Given the description of an element on the screen output the (x, y) to click on. 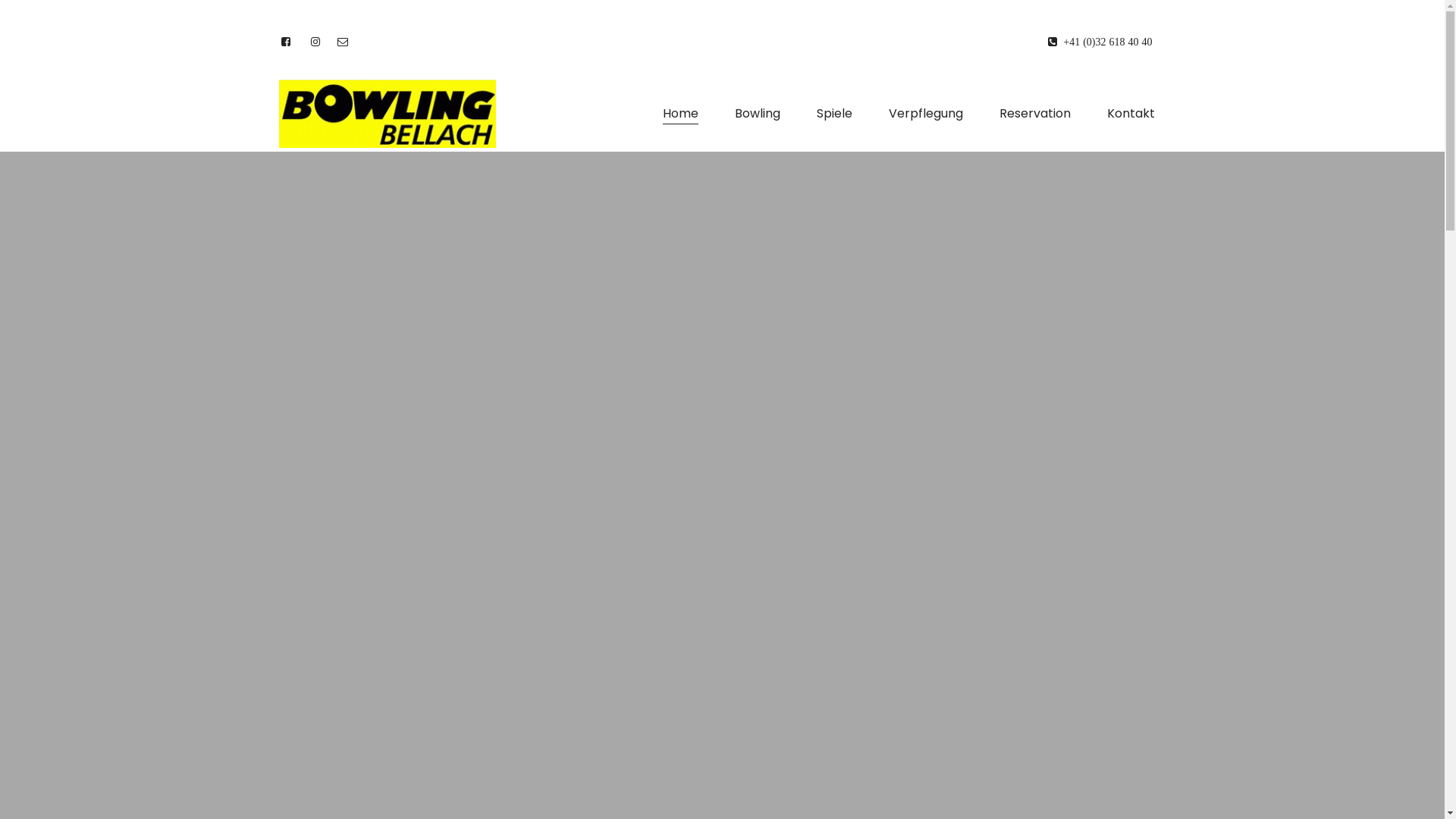
   Element type: text (318, 41)
Reservation Element type: text (1033, 113)
  Element type: text (286, 41)
  Element type: text (343, 41)
Verpflegung Element type: text (925, 113)
Home Element type: text (679, 113)
Kontakt Element type: text (1129, 113)
  +41 (0)32 618 40 40 Element type: text (1099, 41)
Spiele Element type: text (834, 113)
Bowling Element type: text (757, 113)
